Given the description of an element on the screen output the (x, y) to click on. 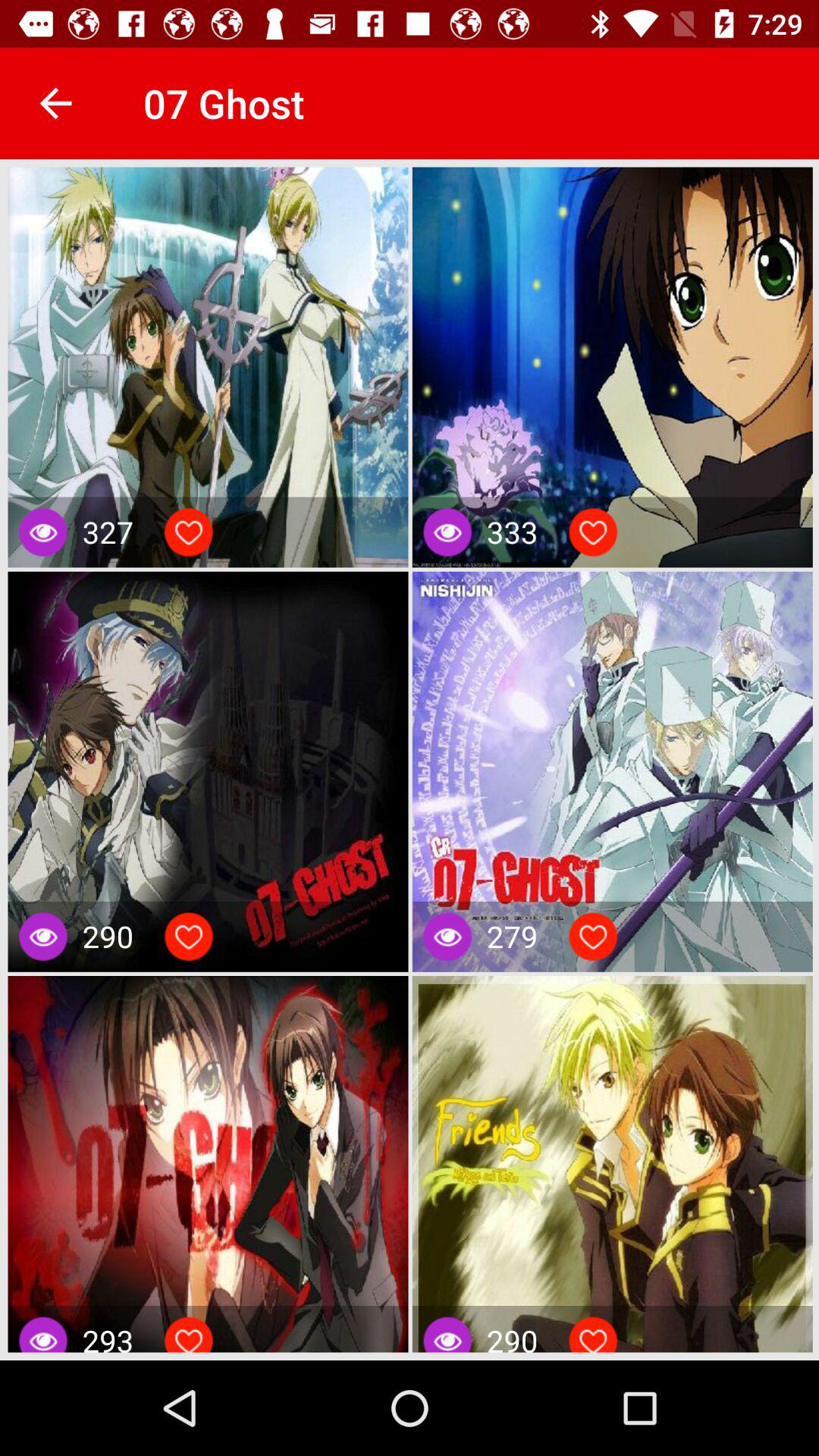
like (593, 532)
